Given the description of an element on the screen output the (x, y) to click on. 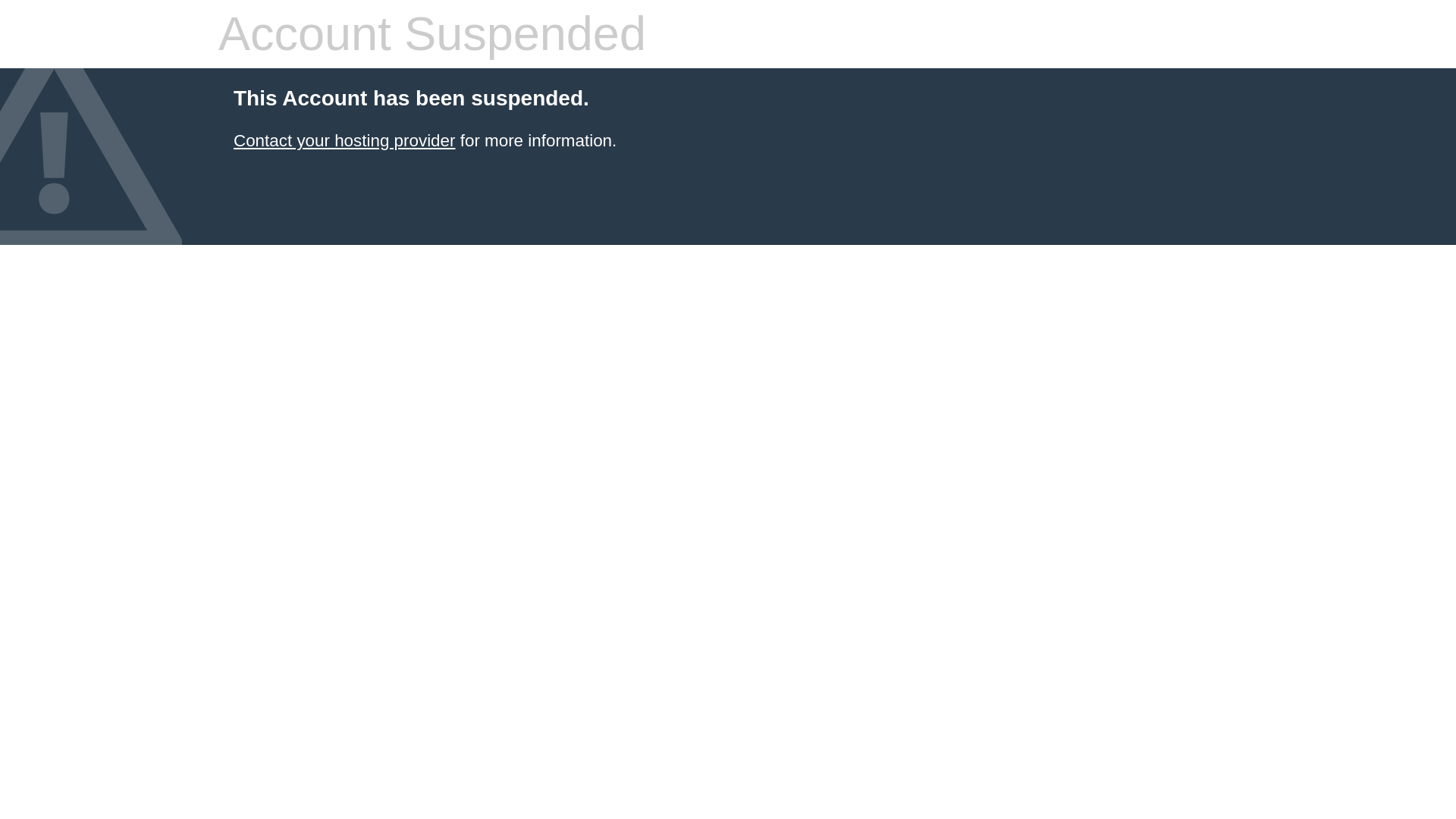
Contact your hosting provider (343, 140)
